Given the description of an element on the screen output the (x, y) to click on. 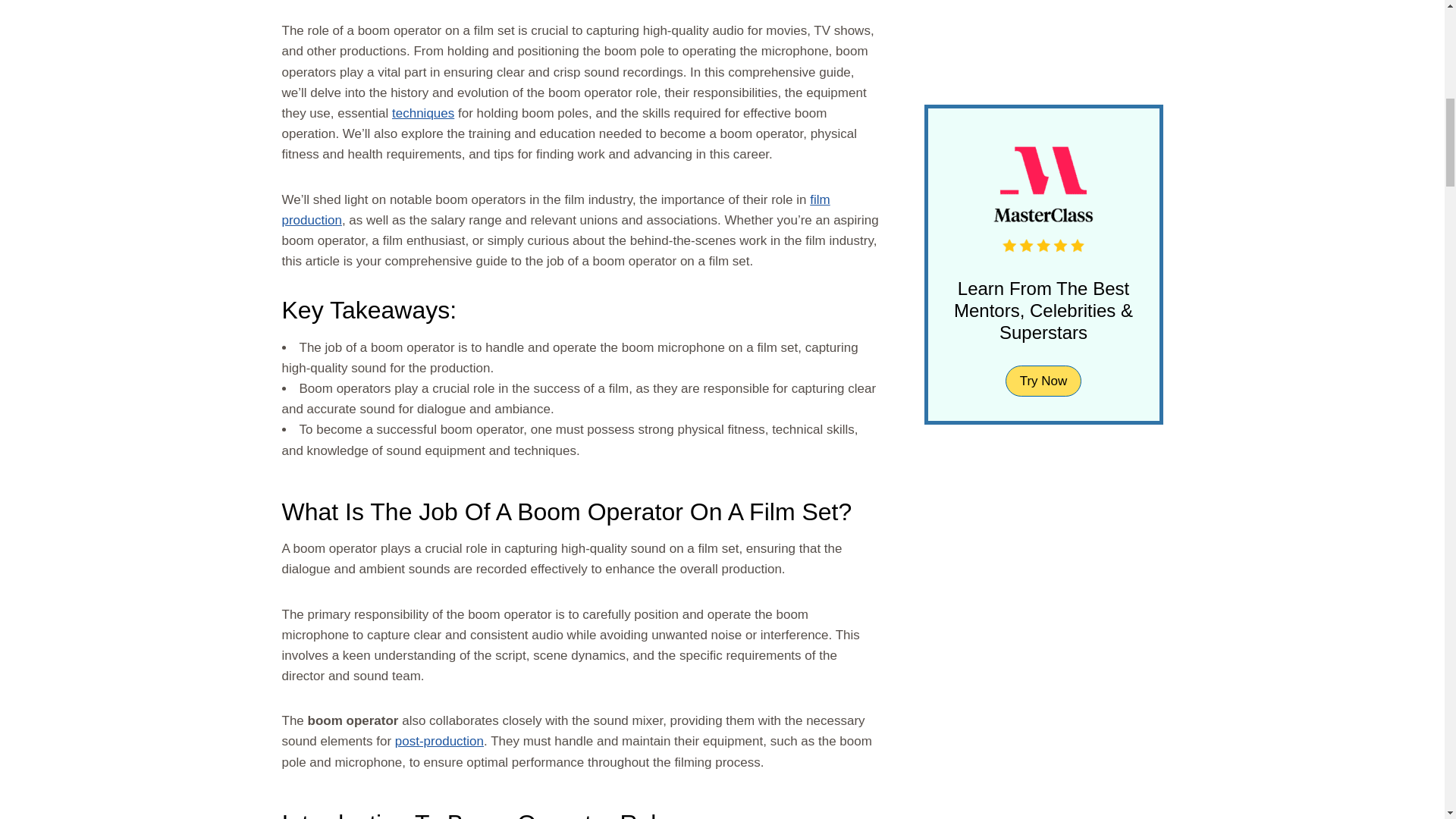
post-production (438, 740)
techniques (422, 113)
film production (555, 209)
